Given the description of an element on the screen output the (x, y) to click on. 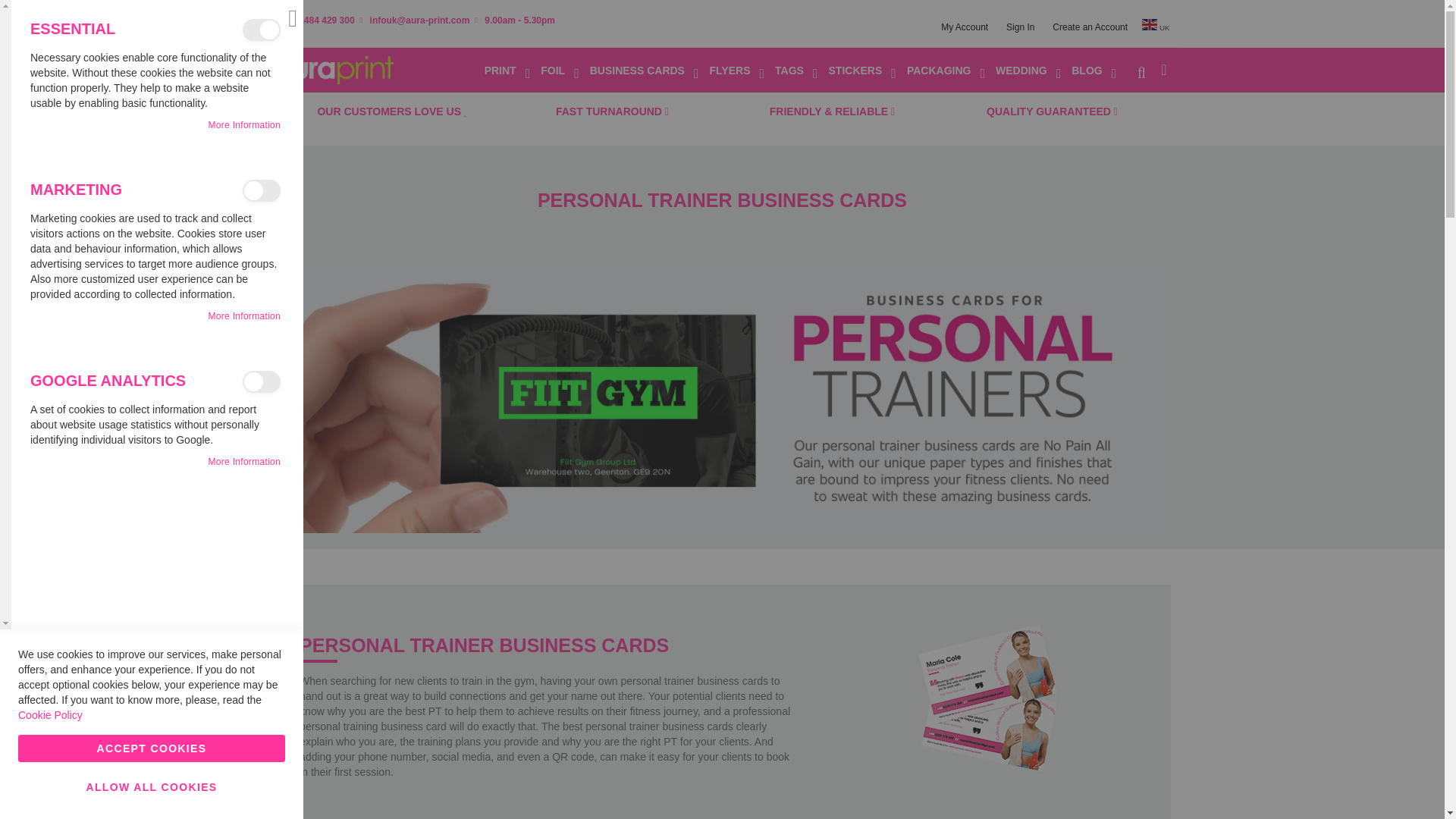
Sign In (1020, 27)
PRINT (507, 70)
Create an Account (1089, 27)
Cookie Policy (49, 715)
More Information (244, 316)
My Account (964, 27)
More Information (244, 461)
More Information (244, 124)
